Given the description of an element on the screen output the (x, y) to click on. 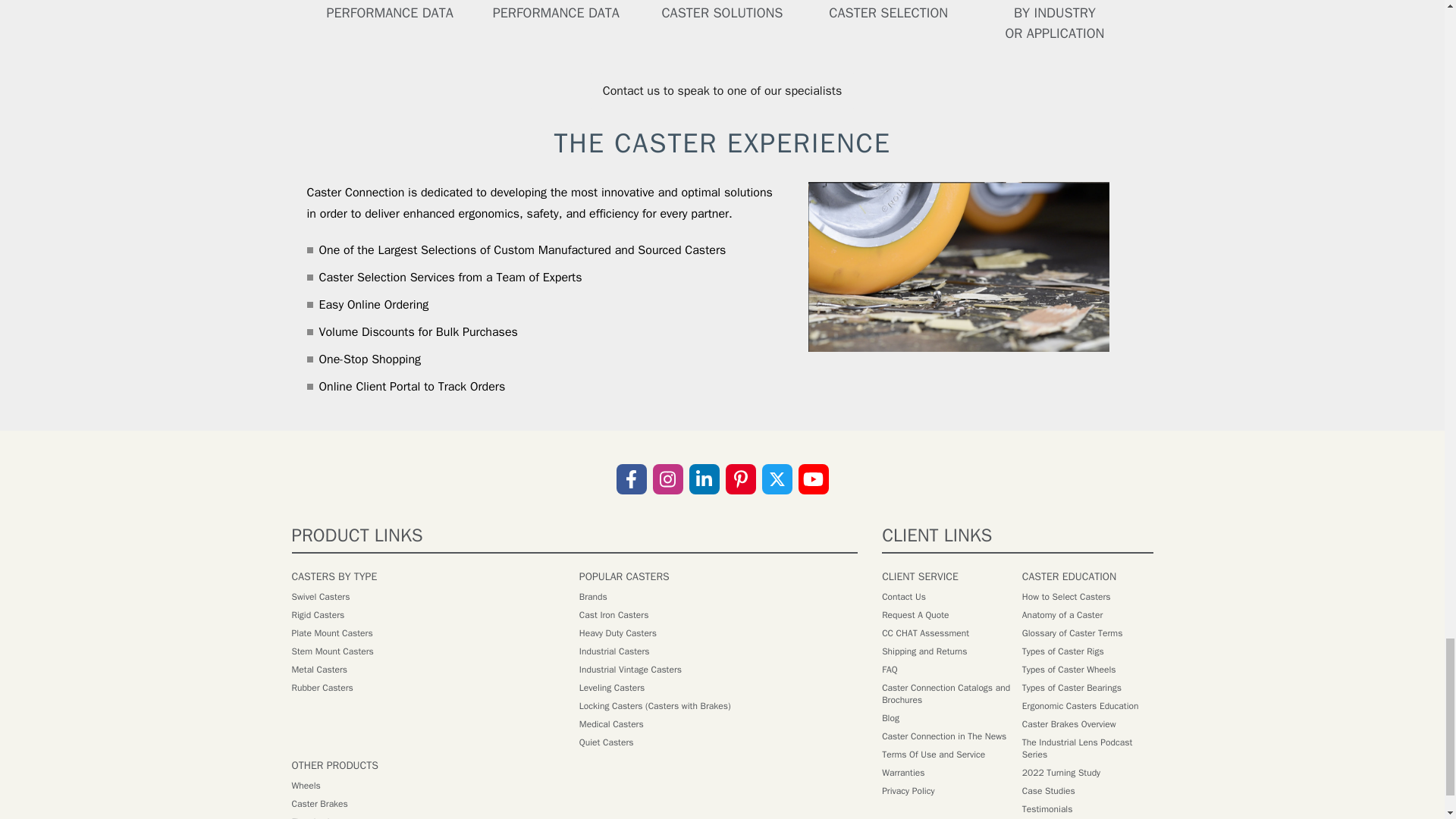
Twitter (776, 479)
YouTube (812, 479)
Pinterest (740, 479)
Facebook (630, 479)
Instagram (667, 479)
LinkedIn (703, 479)
